Given the description of an element on the screen output the (x, y) to click on. 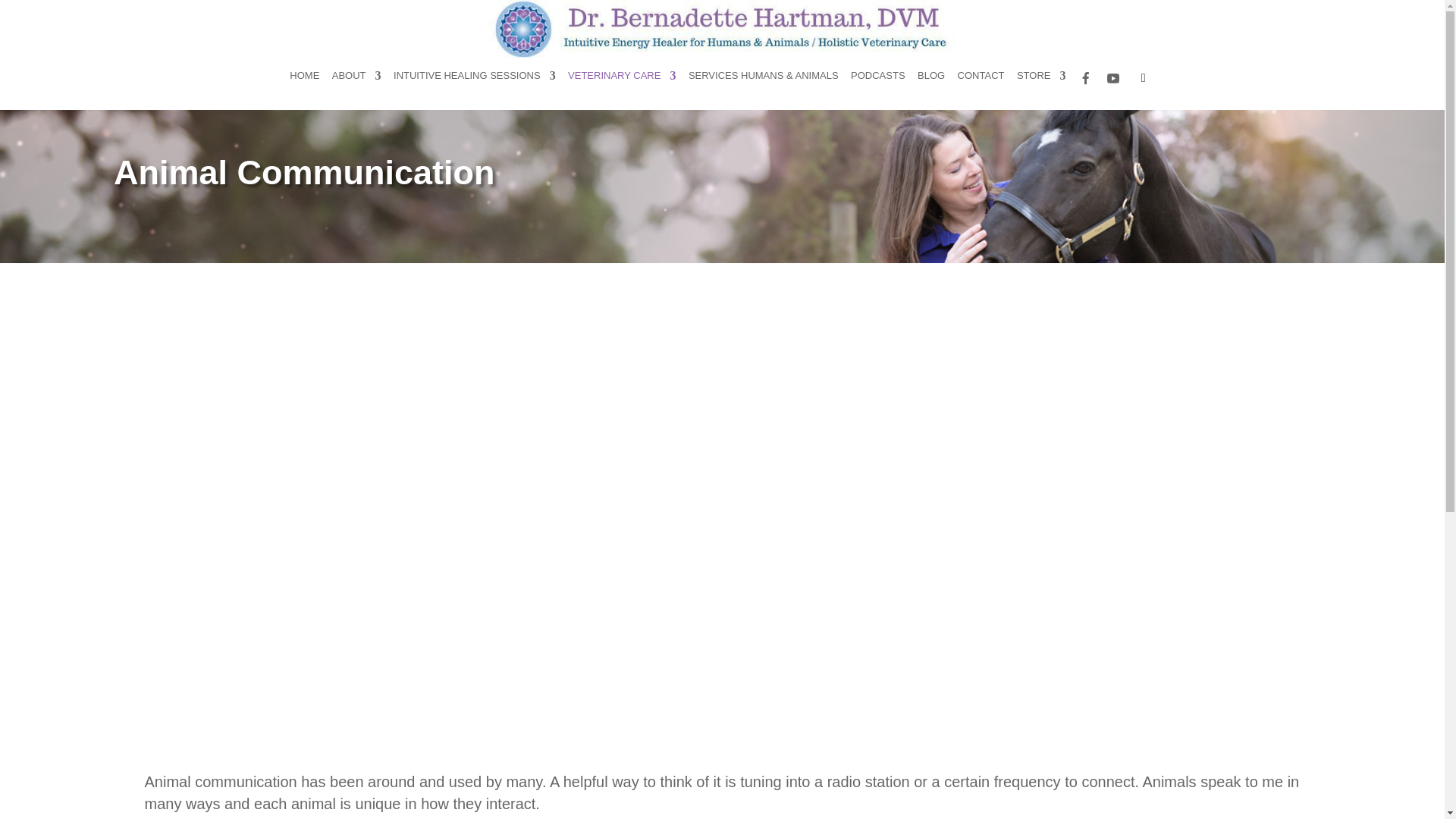
ABOUT (356, 80)
INTUITIVE HEALING SESSIONS (474, 80)
CONTACT (981, 80)
VETERINARY CARE (621, 80)
BLOG (930, 80)
STORE (1040, 80)
PODCASTS (877, 80)
HOME (303, 80)
